Given the description of an element on the screen output the (x, y) to click on. 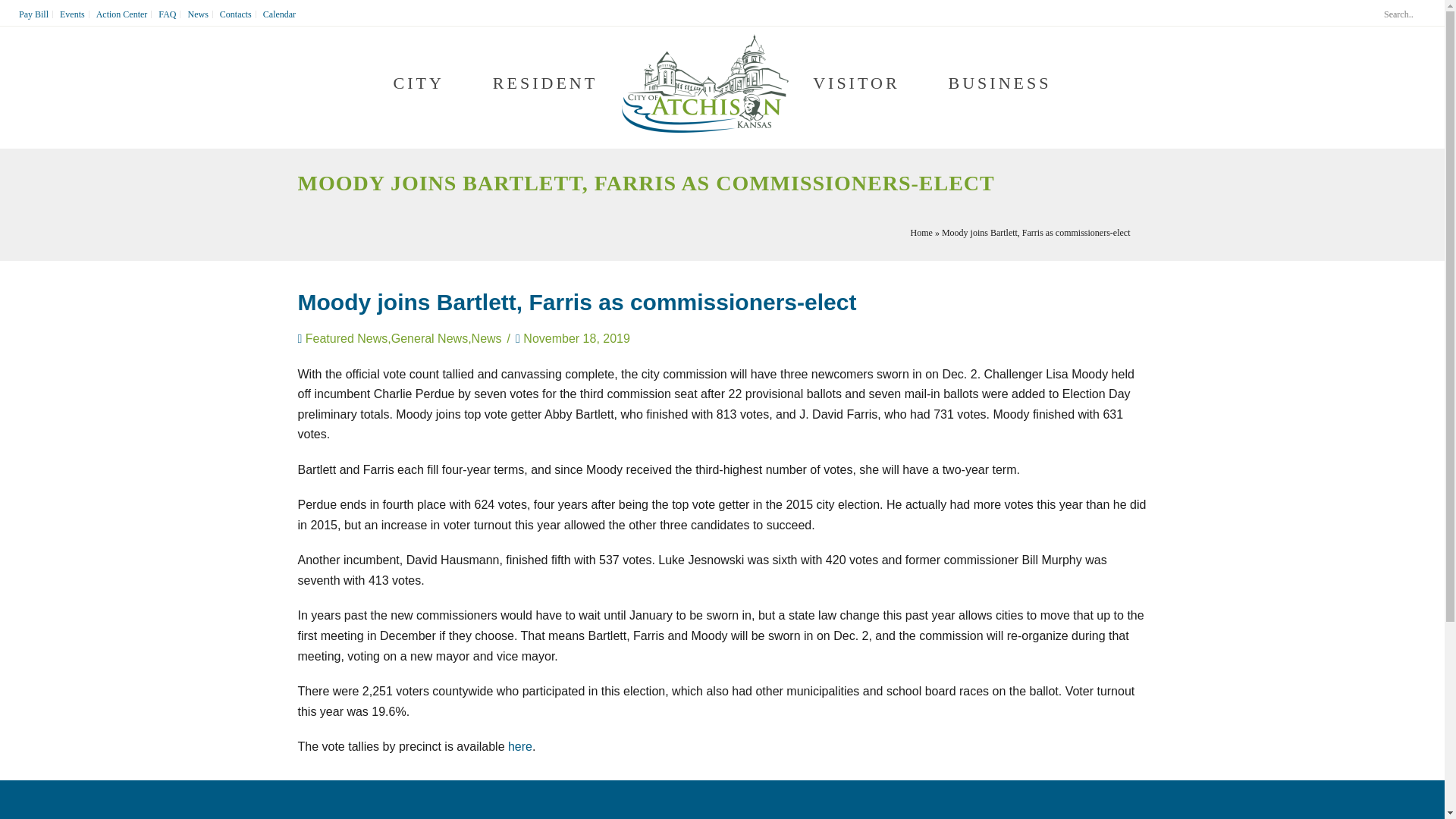
Calendar (279, 14)
Action Center (122, 14)
CITY (418, 84)
VISITOR (856, 84)
8:27 PM (576, 339)
BUSINESS (999, 84)
Events (72, 14)
FAQ (167, 14)
Pay Bill (33, 14)
8:27 PM (576, 338)
